Given the description of an element on the screen output the (x, y) to click on. 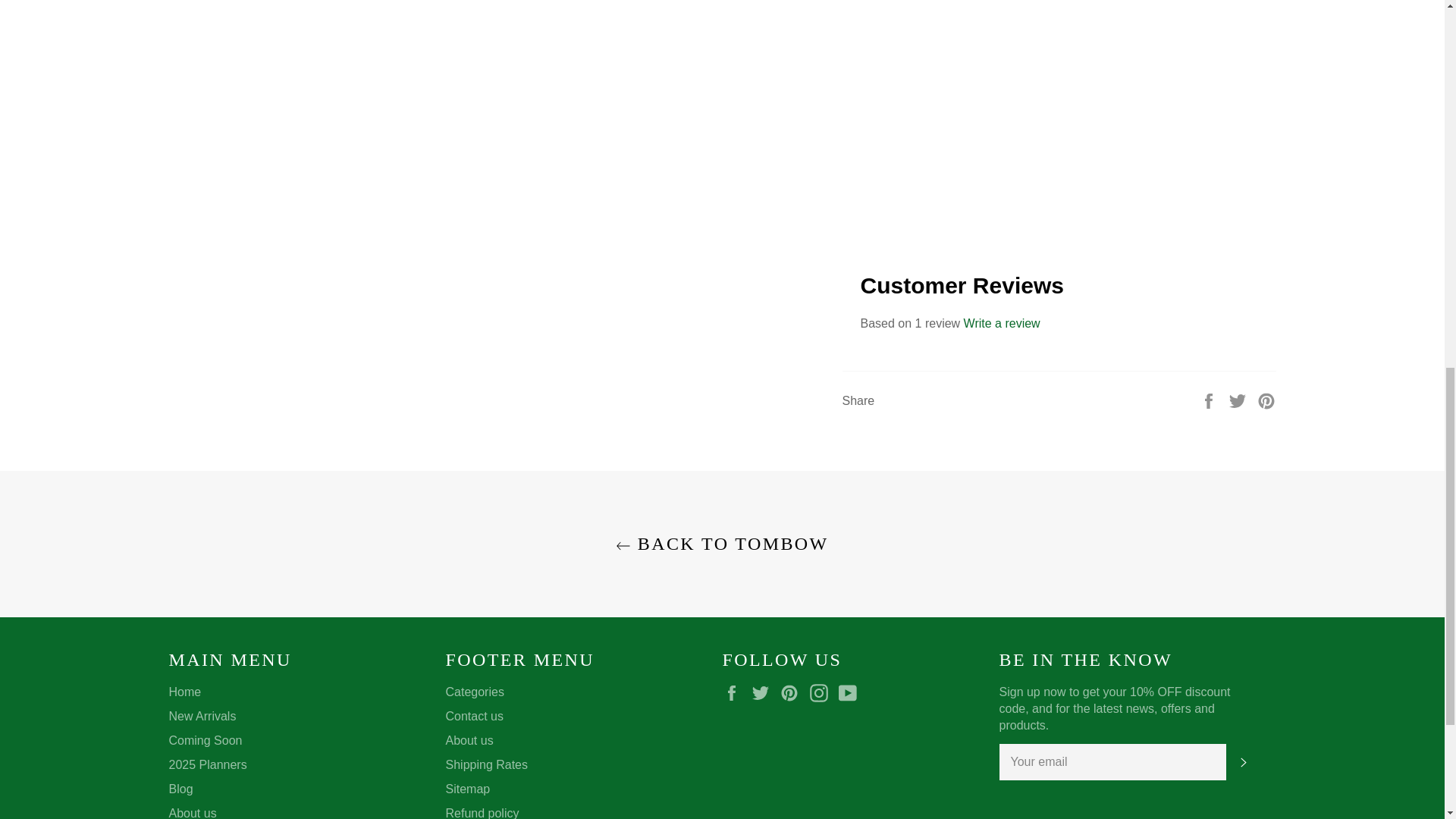
Yoseka Stationery on YouTube (851, 692)
Yoseka Stationery on Twitter (764, 692)
Yoseka Stationery on Facebook (735, 692)
Pin on Pinterest (1266, 400)
Yoseka Stationery on Instagram (822, 692)
Share on Facebook (1210, 400)
YouTube video player (1058, 110)
Yoseka Stationery on Pinterest (793, 692)
Tweet on Twitter (1238, 400)
